Given the description of an element on the screen output the (x, y) to click on. 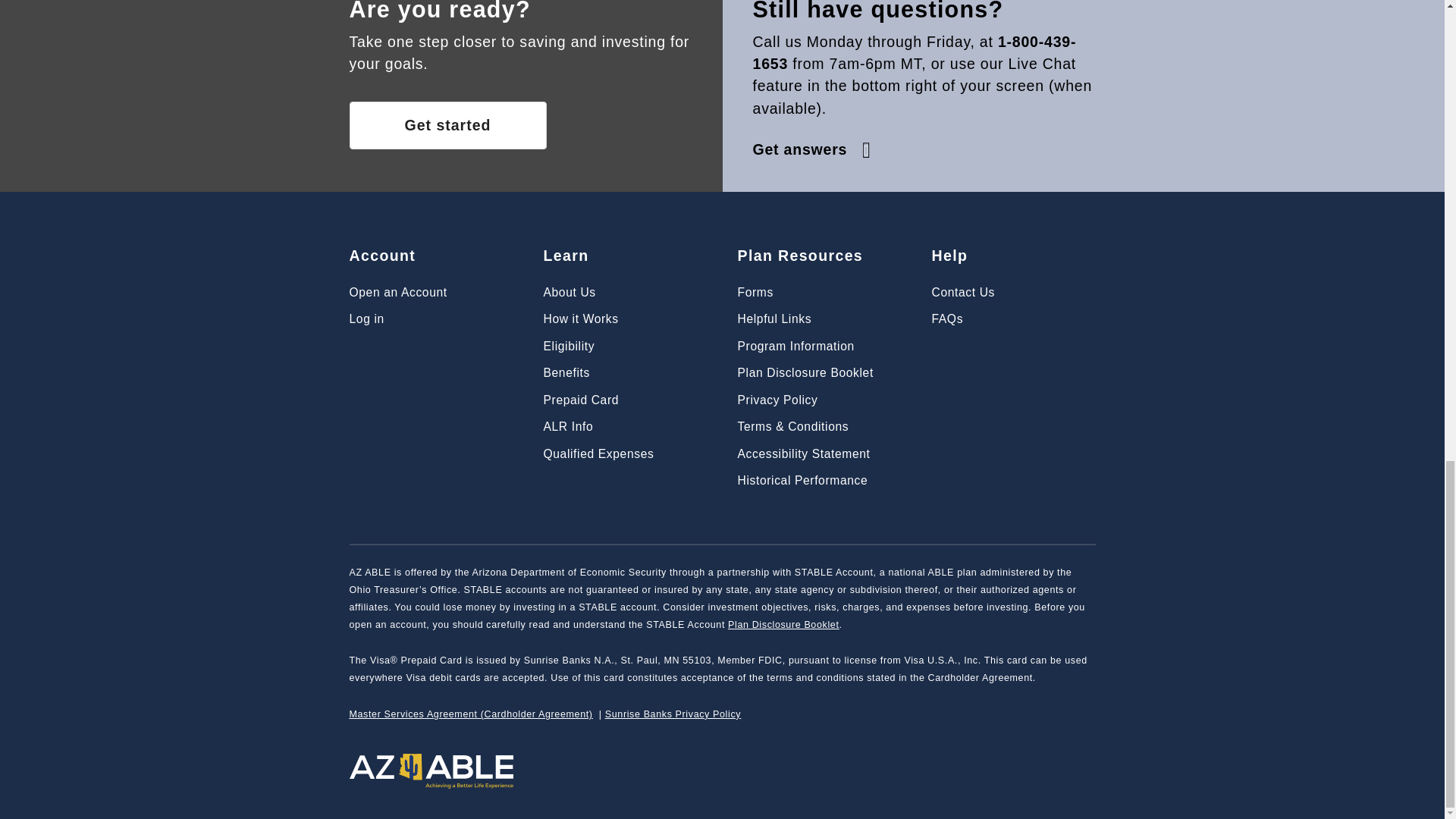
Benefits (566, 372)
Accessibility Statement (802, 453)
How it Works (580, 318)
Helpful Links (773, 318)
Get answers (812, 149)
Contact Us (962, 291)
Eligibility (568, 345)
Get started (447, 125)
Prepaid Card (580, 399)
About Us (569, 291)
Open an Account (397, 291)
Qualified Expenses (598, 453)
Historical Performance (801, 480)
Log in (366, 318)
Privacy Policy (776, 399)
